Given the description of an element on the screen output the (x, y) to click on. 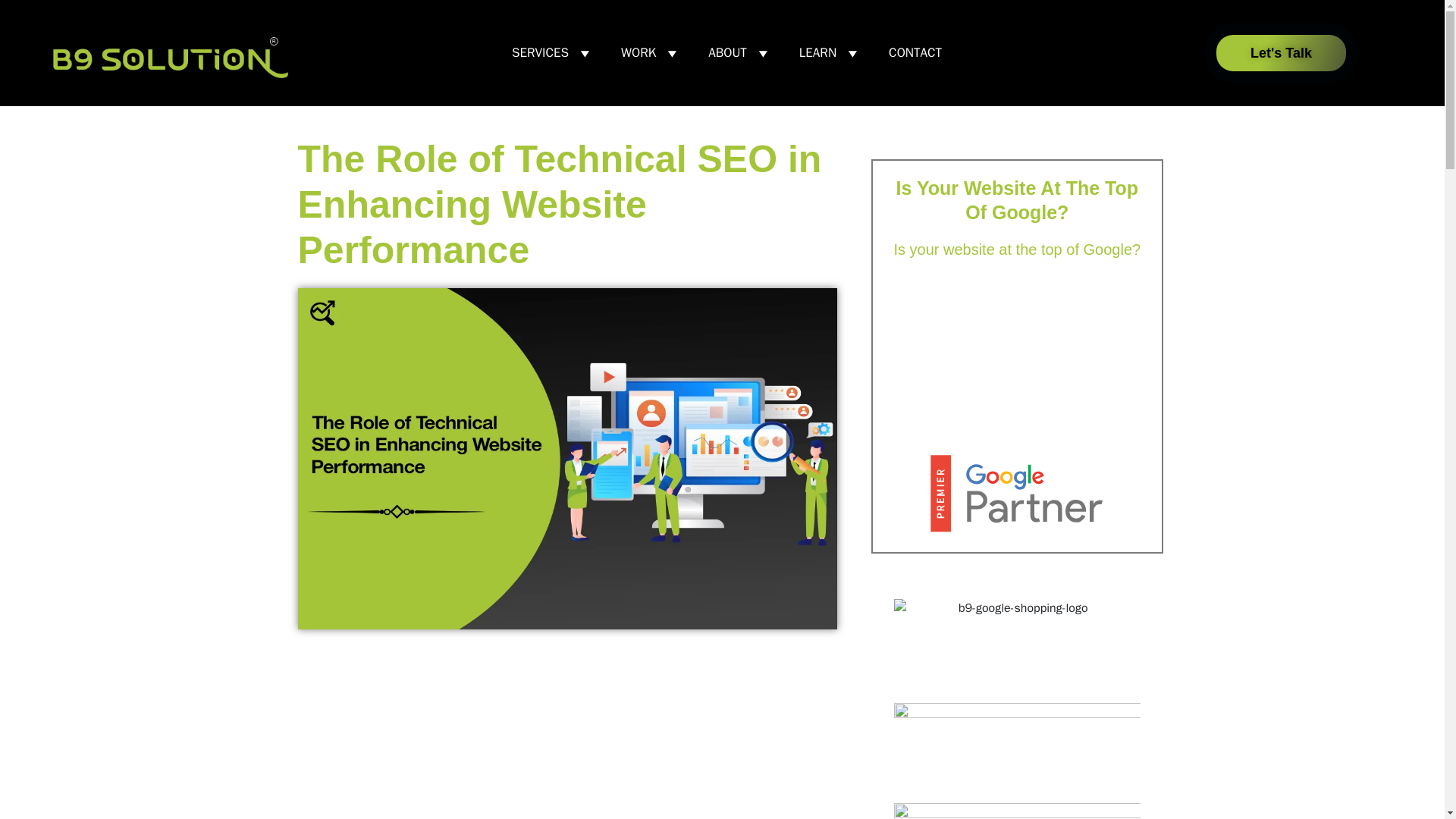
SERVICES (552, 52)
WORK (650, 52)
